Given the description of an element on the screen output the (x, y) to click on. 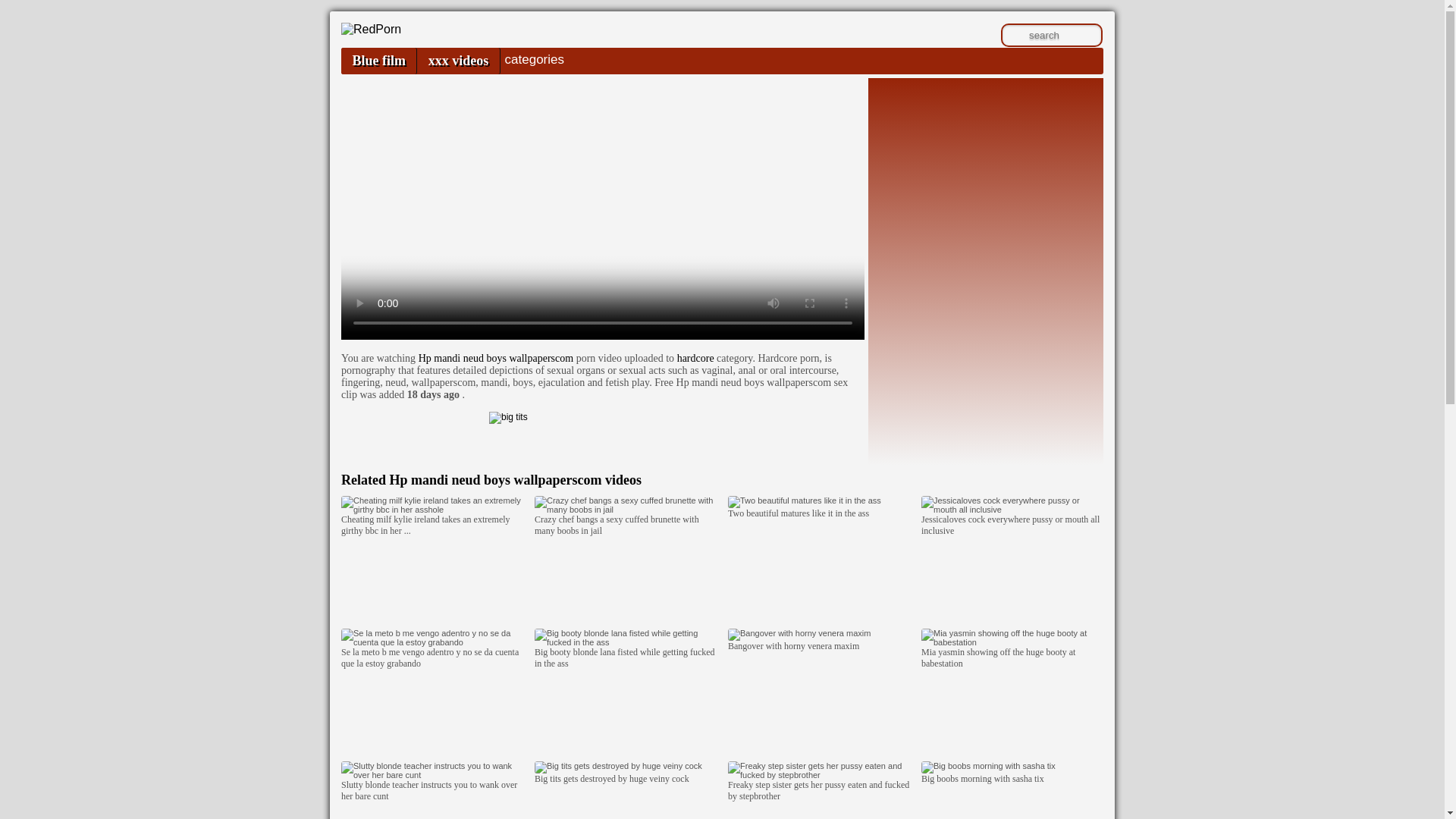
Hp mandi neud boys wallpaperscom (496, 357)
xxx videos (457, 60)
xxx videos (457, 60)
Blue film (378, 60)
Hp mandi neud boys wallpaperscom videos (515, 479)
hardcore (695, 357)
Indian Porn (370, 29)
Blue film (378, 60)
categories (533, 59)
